Given the description of an element on the screen output the (x, y) to click on. 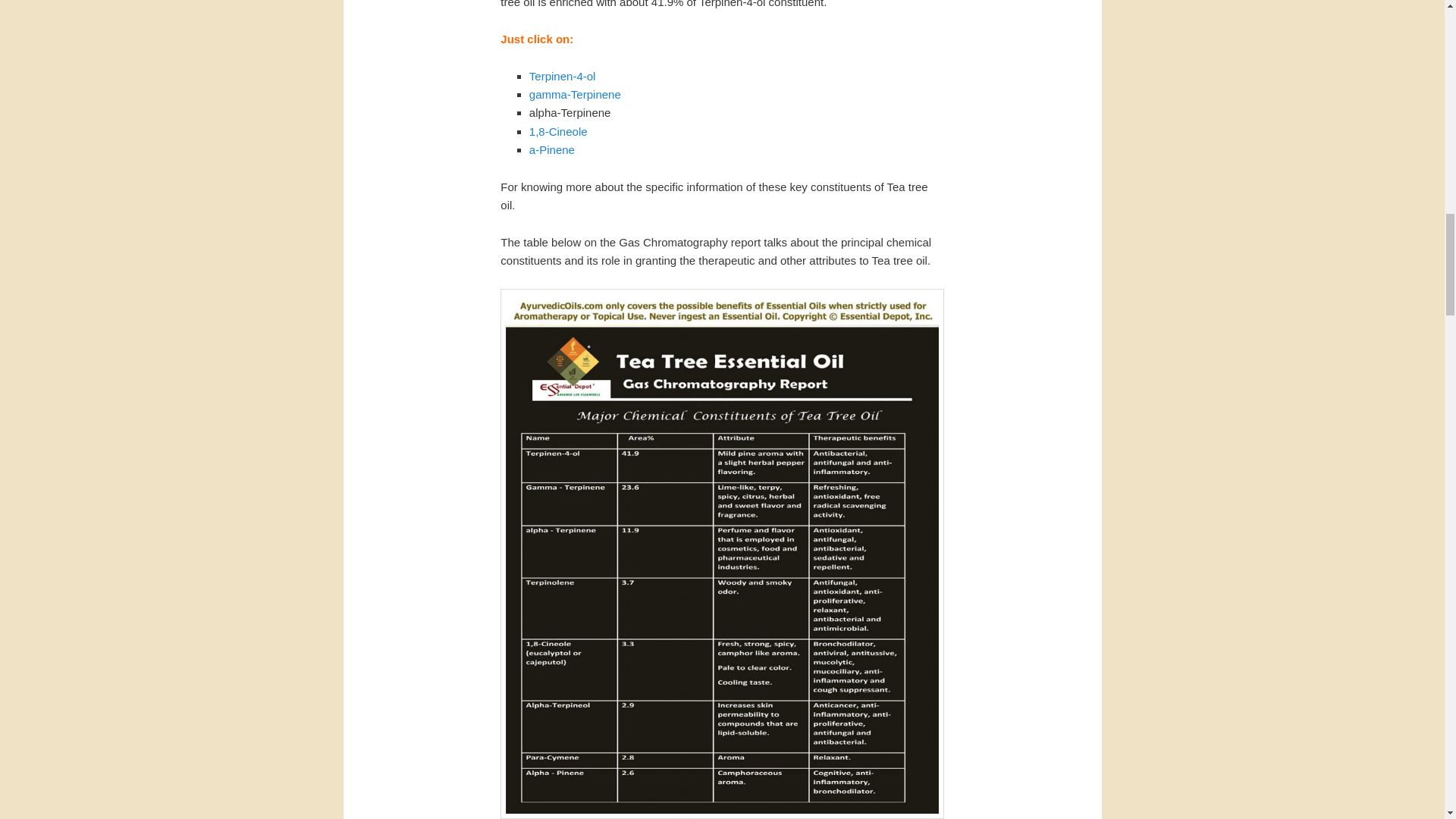
1,8-Cineole (558, 131)
gamma-Terpinene (575, 93)
a-Pinene (552, 149)
Terpinen-4-ol (562, 75)
